Given the description of an element on the screen output the (x, y) to click on. 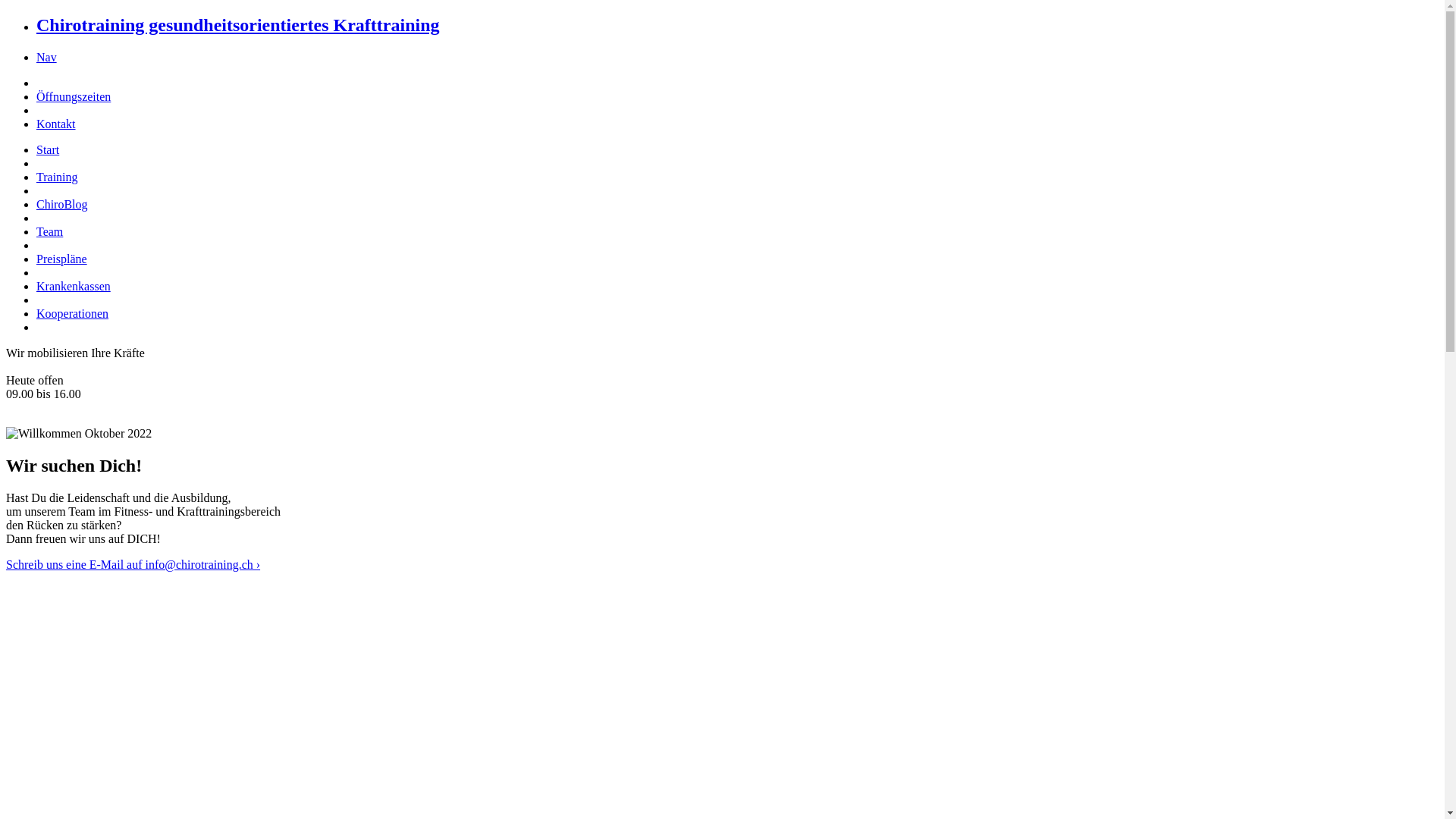
ChiroBlog Element type: text (61, 203)
Team Element type: text (49, 231)
Kontakt Element type: text (55, 123)
Training Element type: text (57, 176)
Krankenkassen Element type: text (73, 285)
Start Element type: text (47, 149)
Kooperationen Element type: text (72, 313)
Chirotraining gesundheitsorientiertes Krafttraining Element type: text (237, 24)
Nav Element type: text (46, 56)
